Given the description of an element on the screen output the (x, y) to click on. 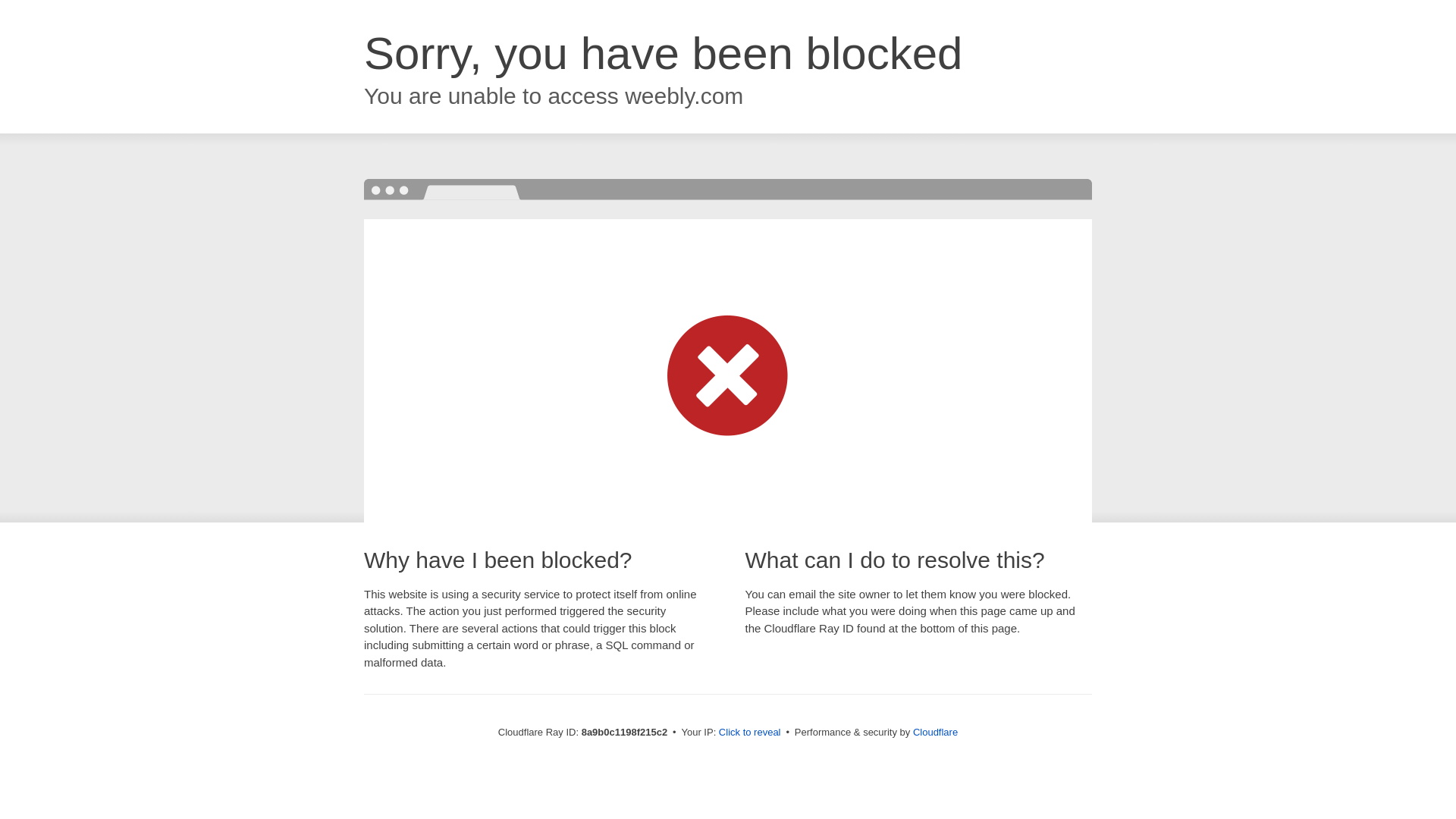
Click to reveal (749, 732)
Cloudflare (935, 731)
